Given the description of an element on the screen output the (x, y) to click on. 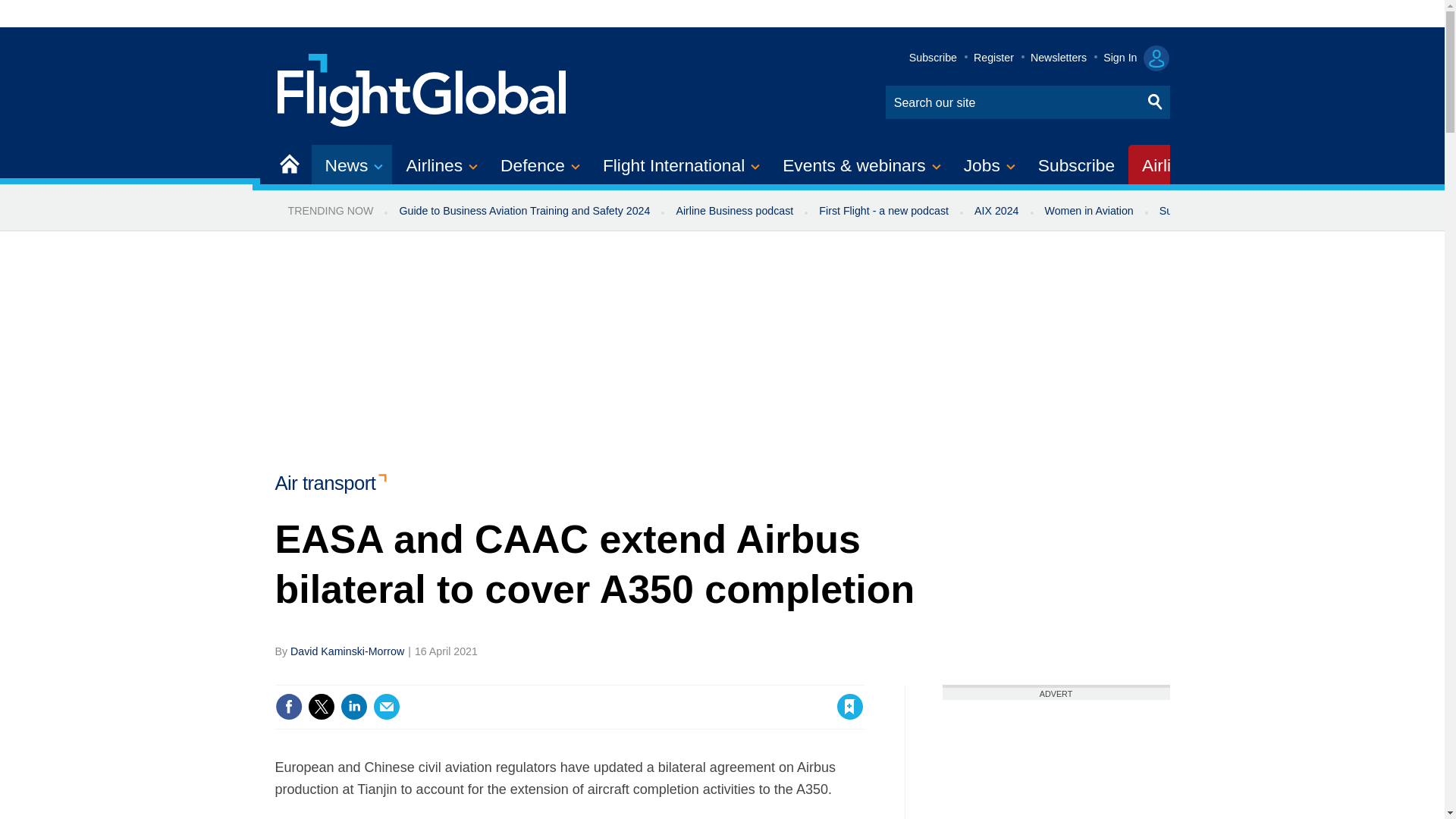
Email this article (386, 706)
Share this on Twitter (320, 706)
Airline Business podcast (734, 210)
First Flight - a new podcast (883, 210)
Site name (422, 88)
Share this on Facebook (288, 706)
Share this on Linked in (352, 706)
Sustainable Aviation newsletter (1234, 210)
